Given the description of an element on the screen output the (x, y) to click on. 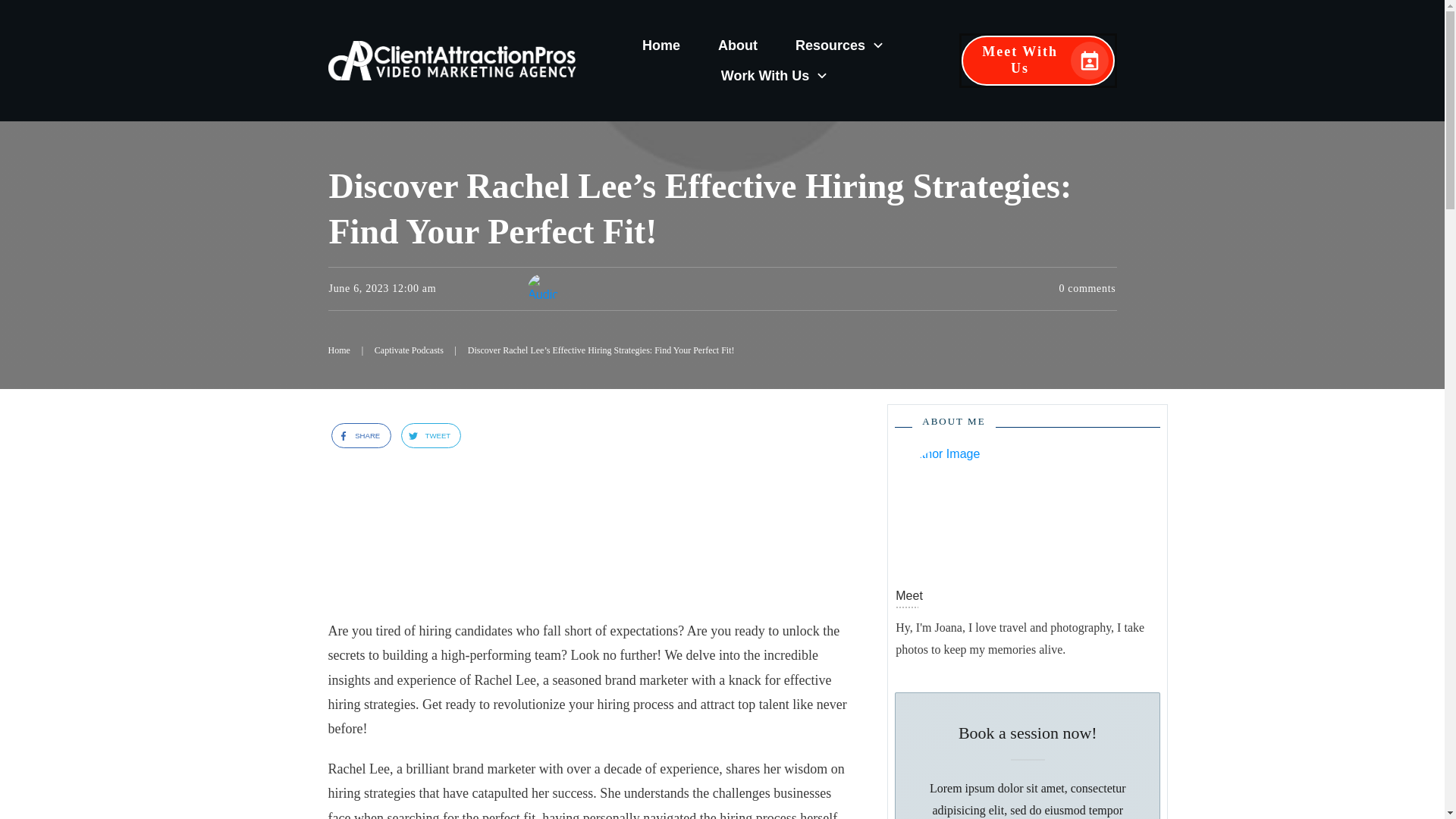
Captivate Podcasts (409, 351)
Meet With Us (1037, 60)
TWEET (425, 435)
Work With Us (774, 75)
Resources (839, 44)
Home (660, 44)
SHARE (355, 435)
About (737, 44)
Home (338, 351)
Audio 02 (542, 288)
